Given the description of an element on the screen output the (x, y) to click on. 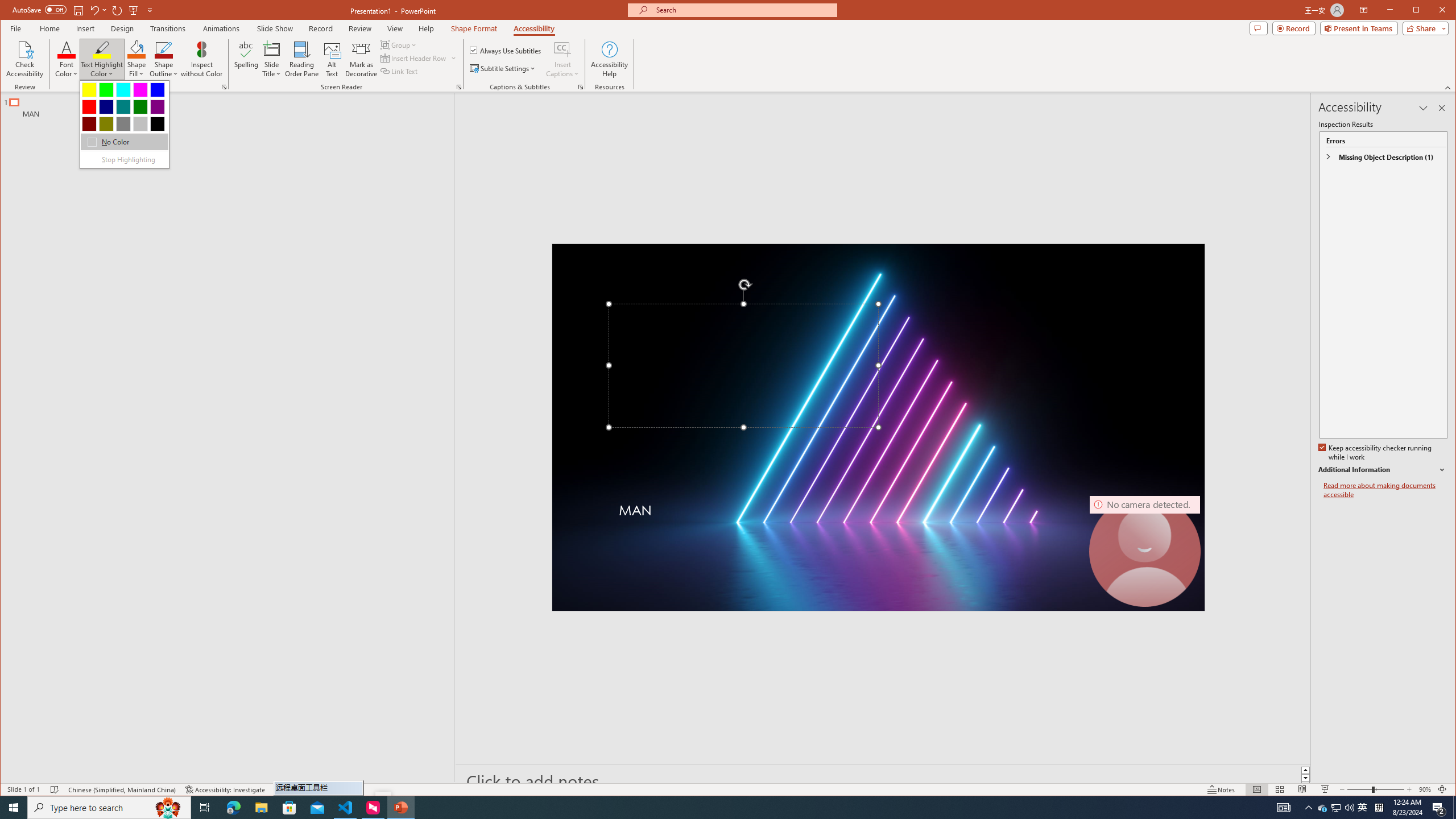
Always Use Subtitles (505, 49)
Subtitle Settings (502, 68)
Alt Text (331, 59)
Insert Header Row (418, 57)
Spelling... (246, 59)
